Given the description of an element on the screen output the (x, y) to click on. 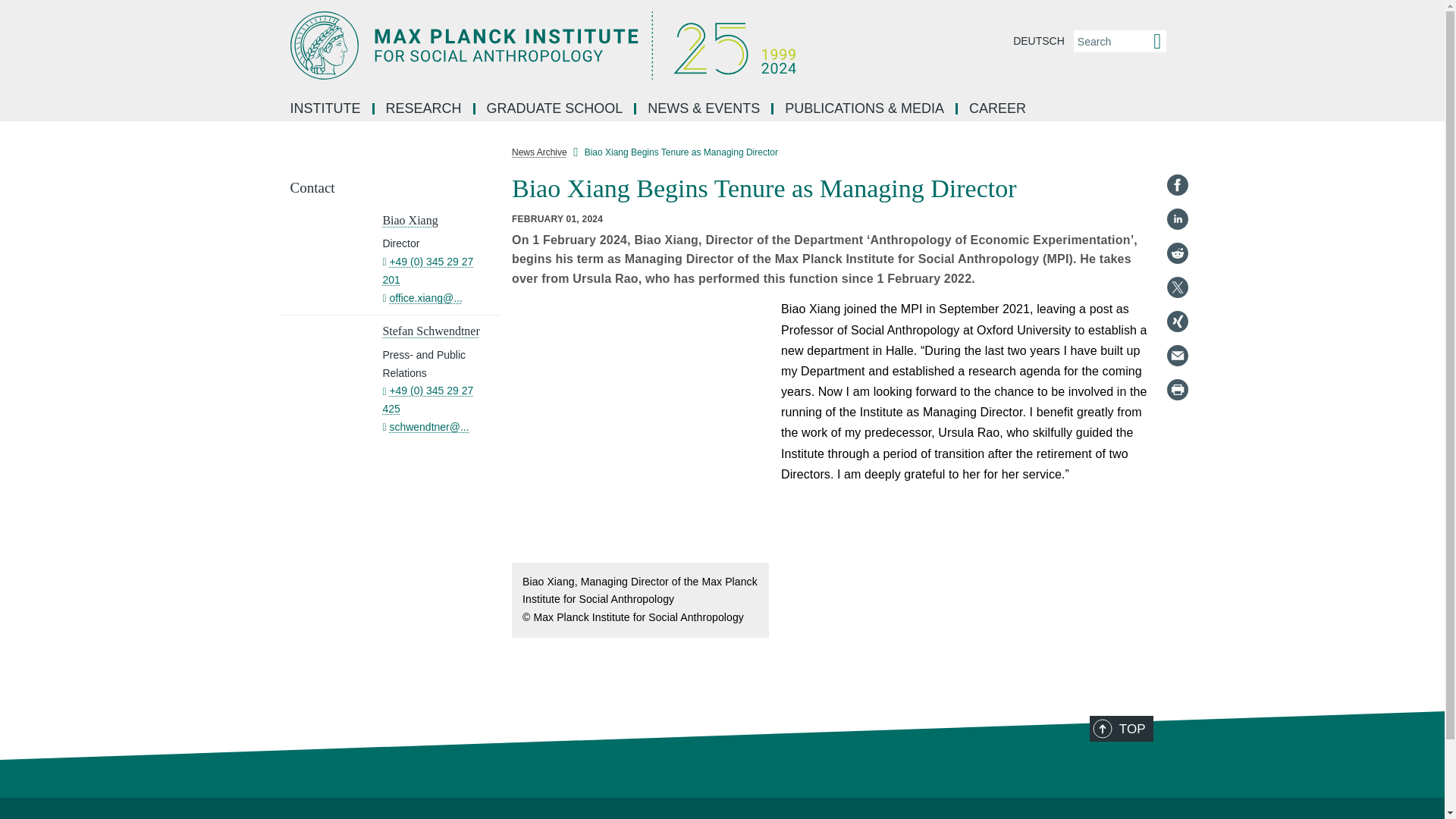
opens zoom view (640, 429)
LinkedIn (1177, 219)
Facebook (1177, 184)
Xing (1177, 321)
RESEARCH (425, 108)
Twitter (1177, 287)
Print (1177, 389)
E-Mail (1177, 354)
More information about Biao Xiang (409, 219)
INSTITUTE (326, 108)
More information about Stefan Schwendtner (430, 330)
Reddit (1177, 252)
DEUTSCH (1038, 41)
